Given the description of an element on the screen output the (x, y) to click on. 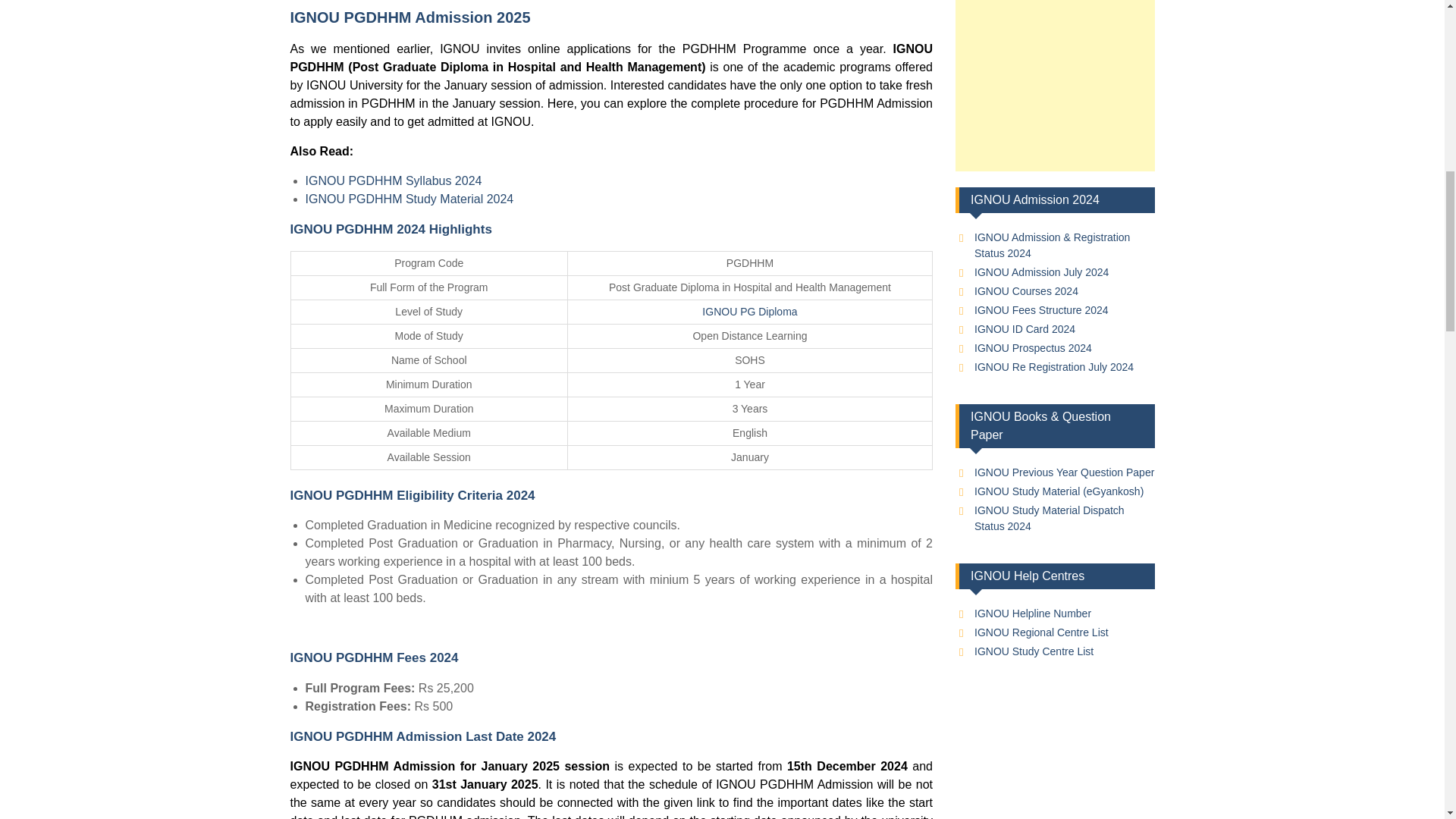
Advertisement (1054, 85)
IGNOU PGDHHM Syllabus 2024 (392, 180)
IGNOU PG Diploma (748, 310)
IGNOU PGDHHM Study Material 2024 (408, 198)
